Given the description of an element on the screen output the (x, y) to click on. 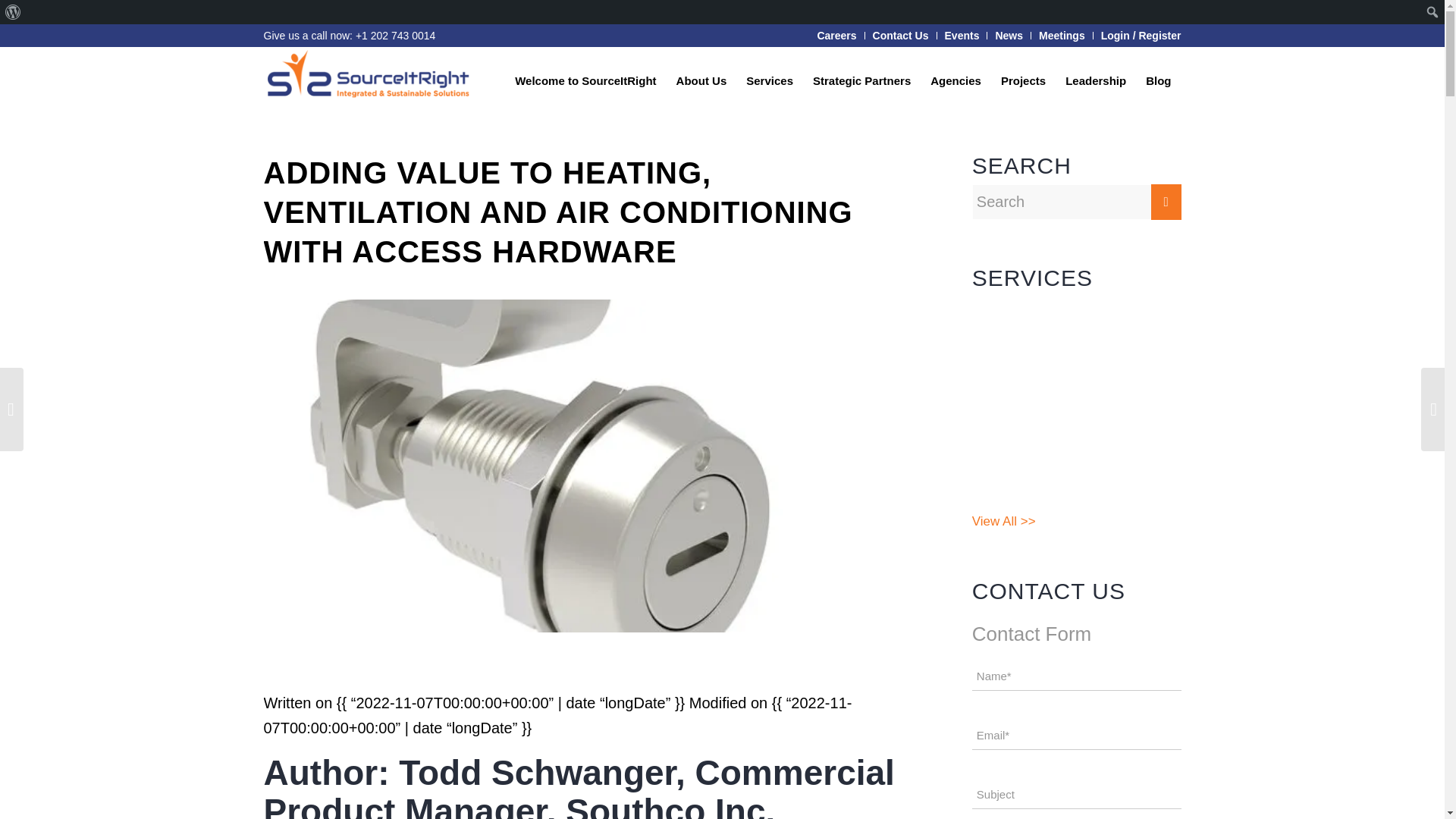
Careers (836, 35)
Contact Us (900, 35)
Events (961, 35)
Services (769, 80)
Welcome to SourceItRight (585, 80)
News (1008, 35)
Search (15, 12)
About Us (701, 80)
Meetings (1061, 35)
